Given the description of an element on the screen output the (x, y) to click on. 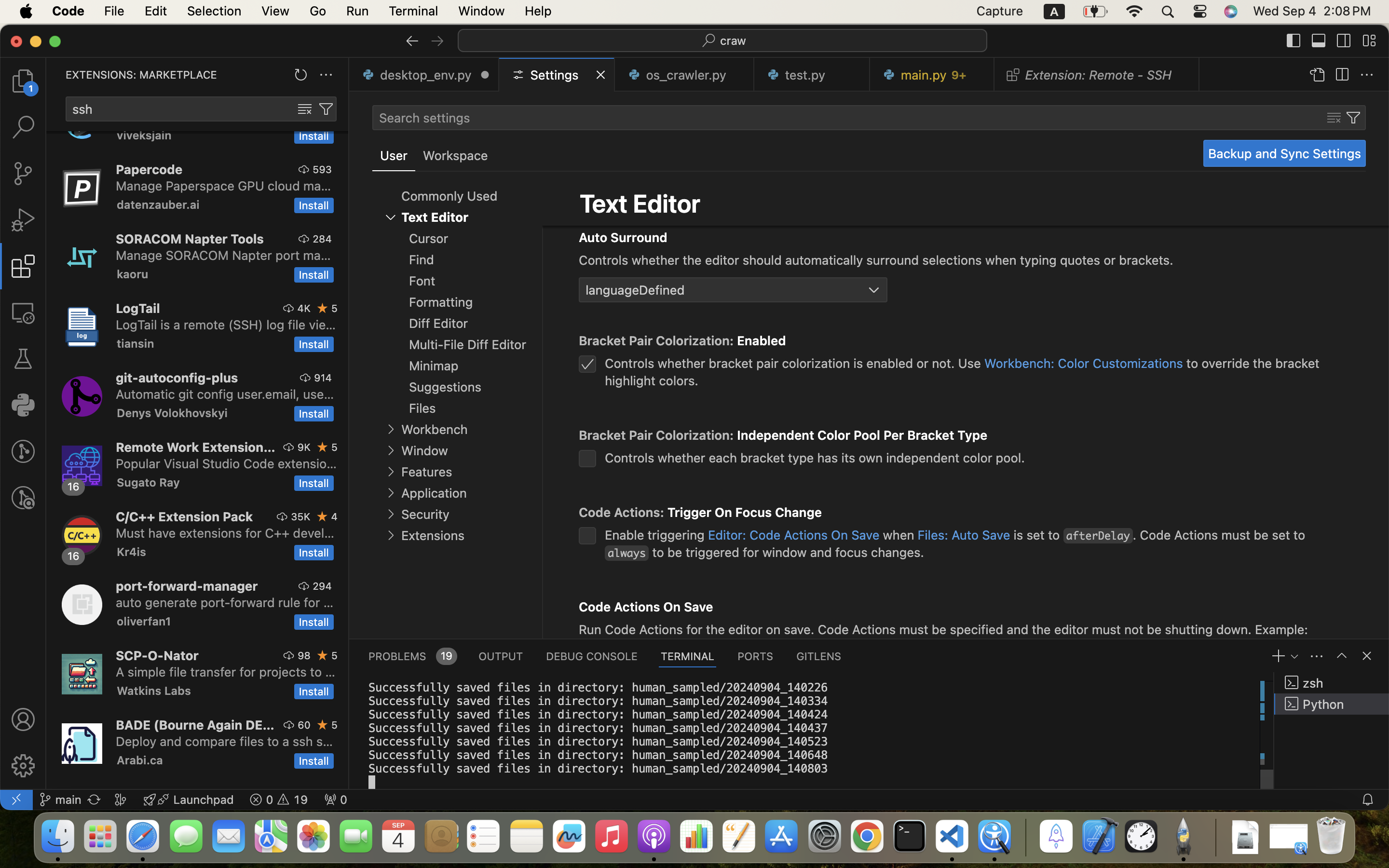
 Element type: AXStaticText (325, 108)
tiansin Element type: AXStaticText (135, 343)
kaoru Element type: AXStaticText (132, 273)
Automatic git config user.email, user.name, SSH key setting for vscode Element type: AXStaticText (224, 393)
 Element type: AXGroup (23, 765)
